Given the description of an element on the screen output the (x, y) to click on. 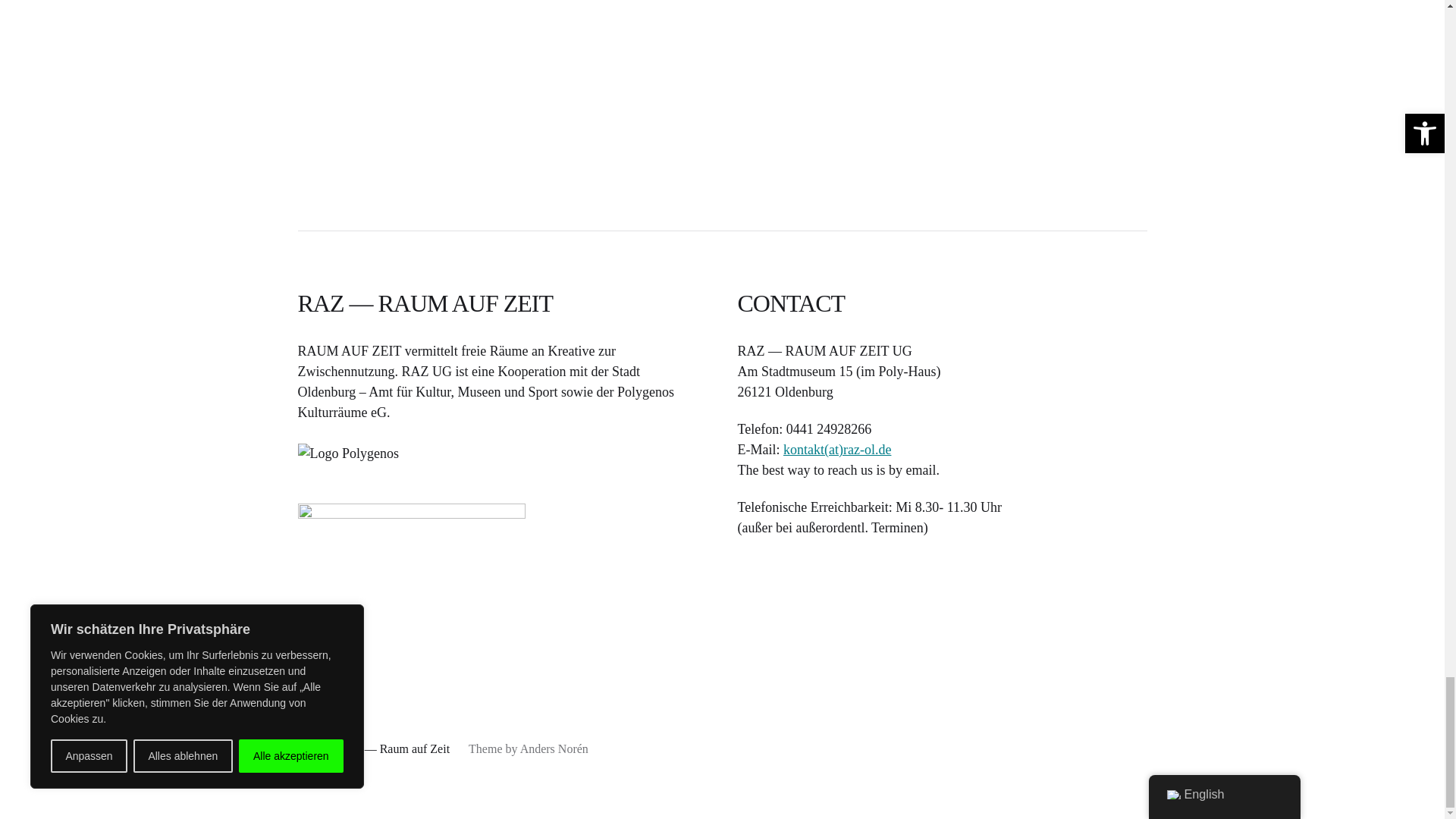
re:claim - Jade HS (722, 70)
